Given the description of an element on the screen output the (x, y) to click on. 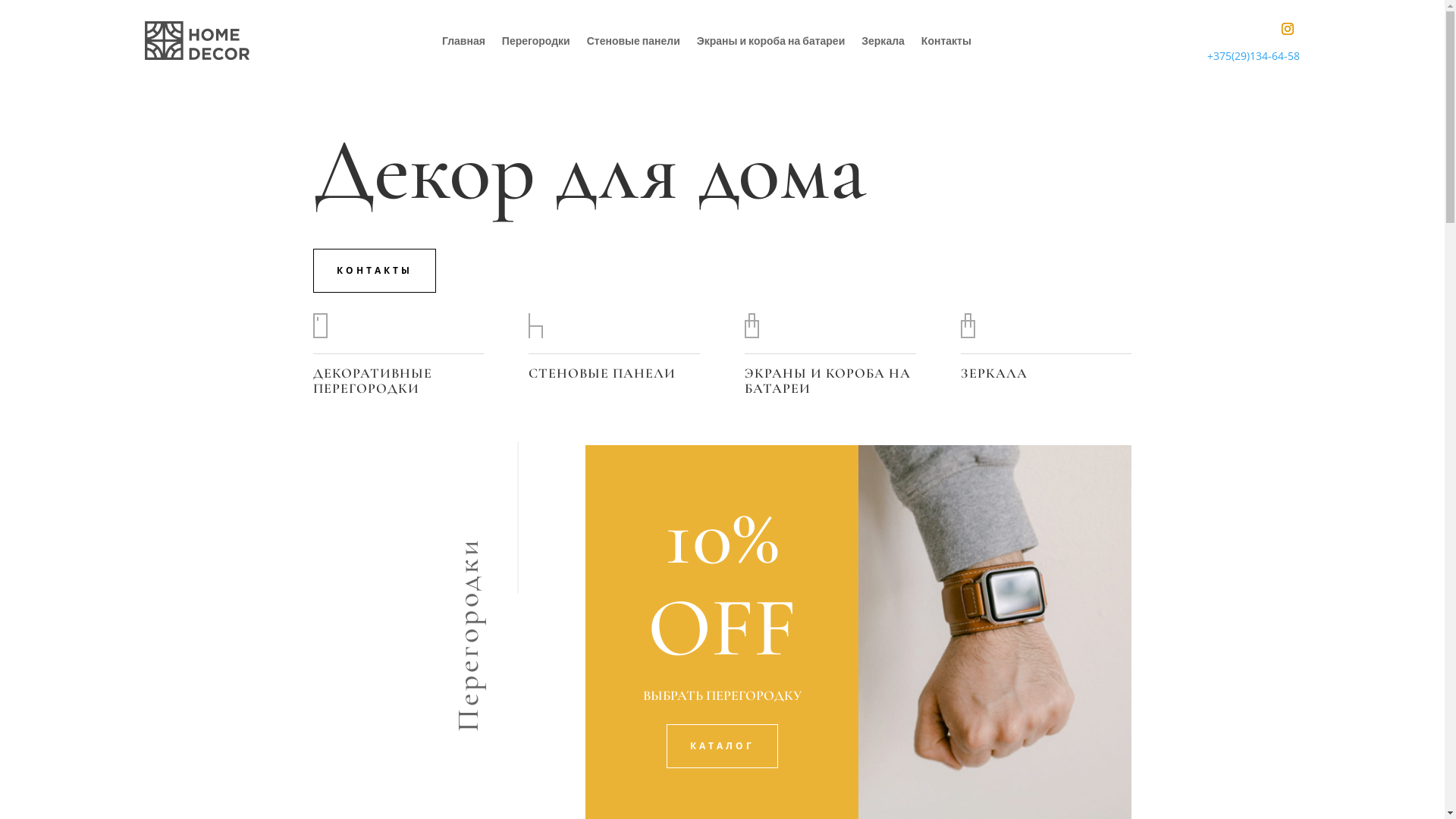
logo Element type: hover (196, 40)
+375(29)134-64-58 Element type: text (1253, 55)
